Given the description of an element on the screen output the (x, y) to click on. 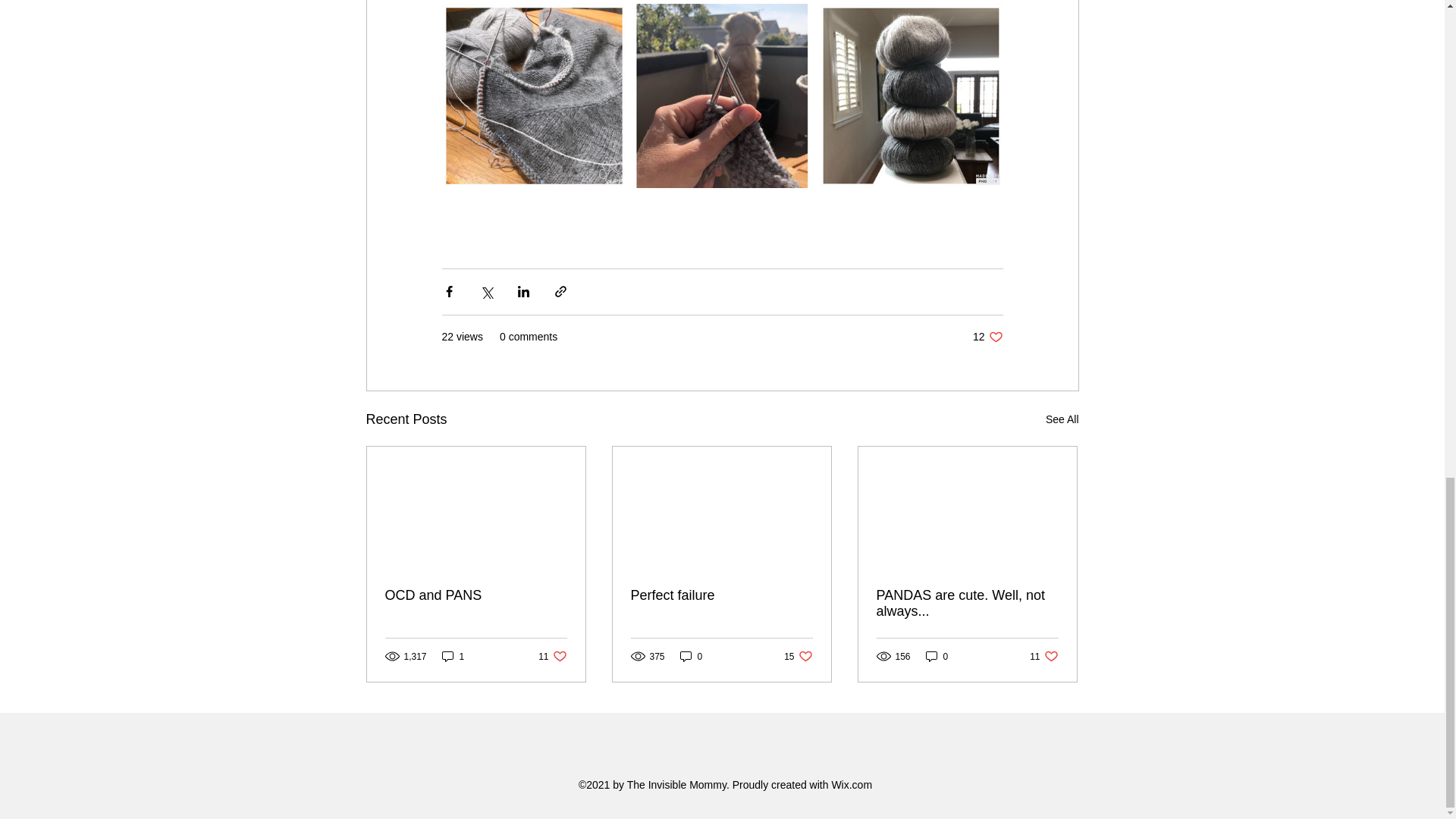
0 (987, 336)
PANDAS are cute. Well, not always... (1043, 656)
See All (691, 656)
OCD and PANS (967, 603)
0 (1061, 419)
1 (476, 595)
Perfect failure (937, 656)
